Given the description of an element on the screen output the (x, y) to click on. 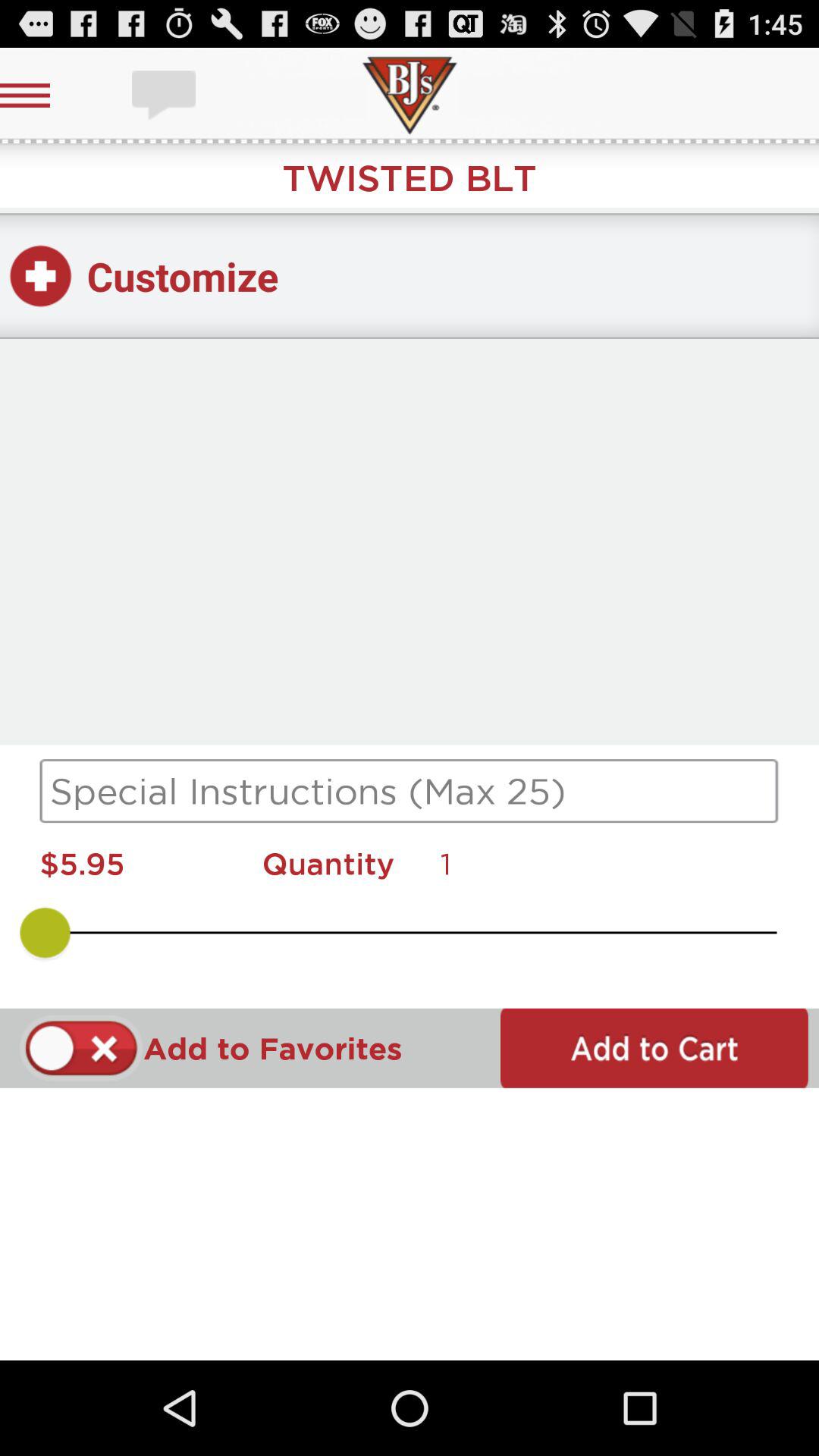
enter special instructions (409, 790)
